Given the description of an element on the screen output the (x, y) to click on. 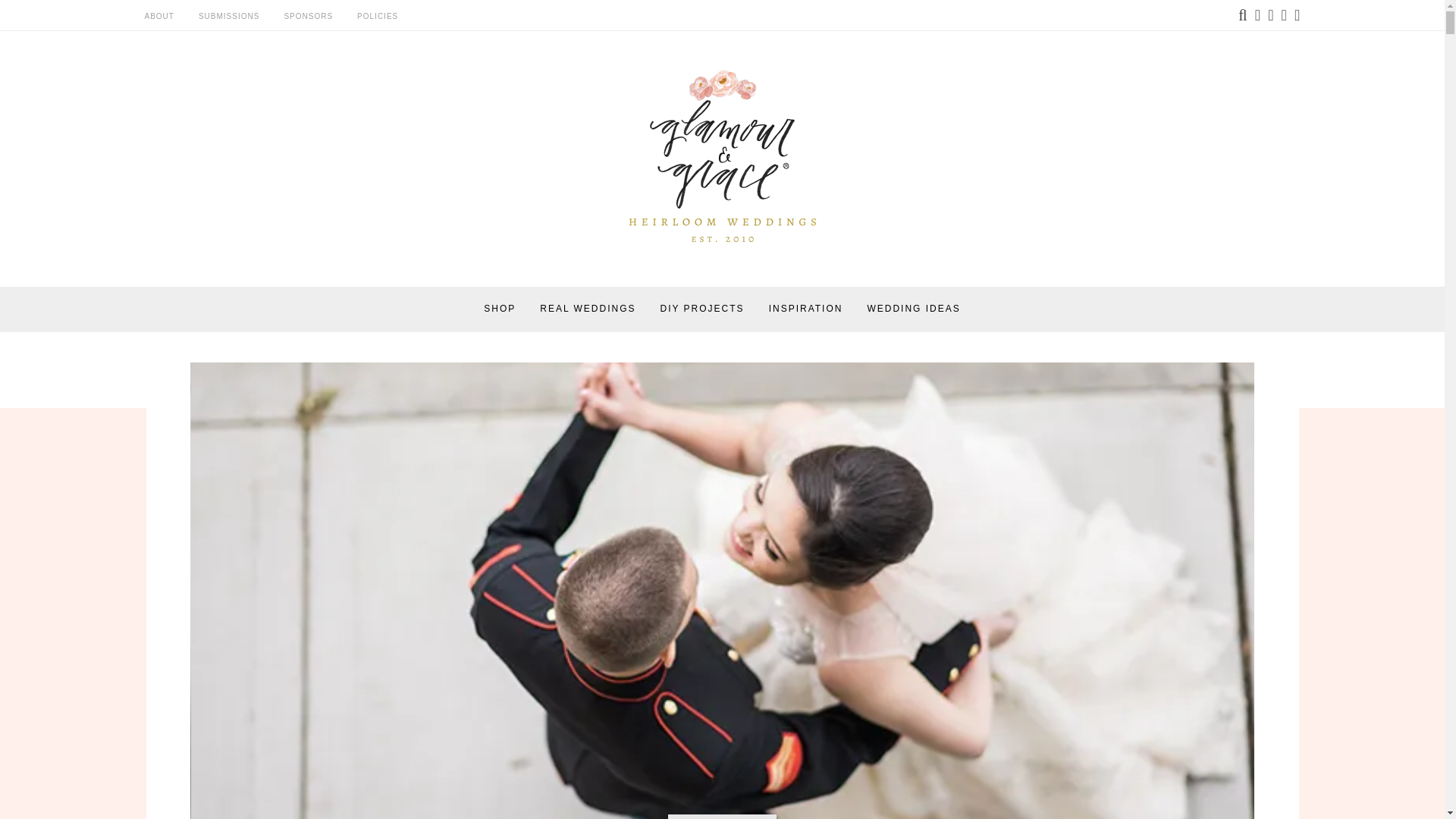
SUBMISSIONS (228, 16)
REAL WEDDINGS (587, 308)
SPONSORS (308, 16)
DIY PROJECTS (701, 308)
POLICIES (376, 16)
WEDDING IDEAS (912, 308)
ABOUT (158, 16)
INSPIRATION (805, 308)
Bridal Party (722, 816)
